Given the description of an element on the screen output the (x, y) to click on. 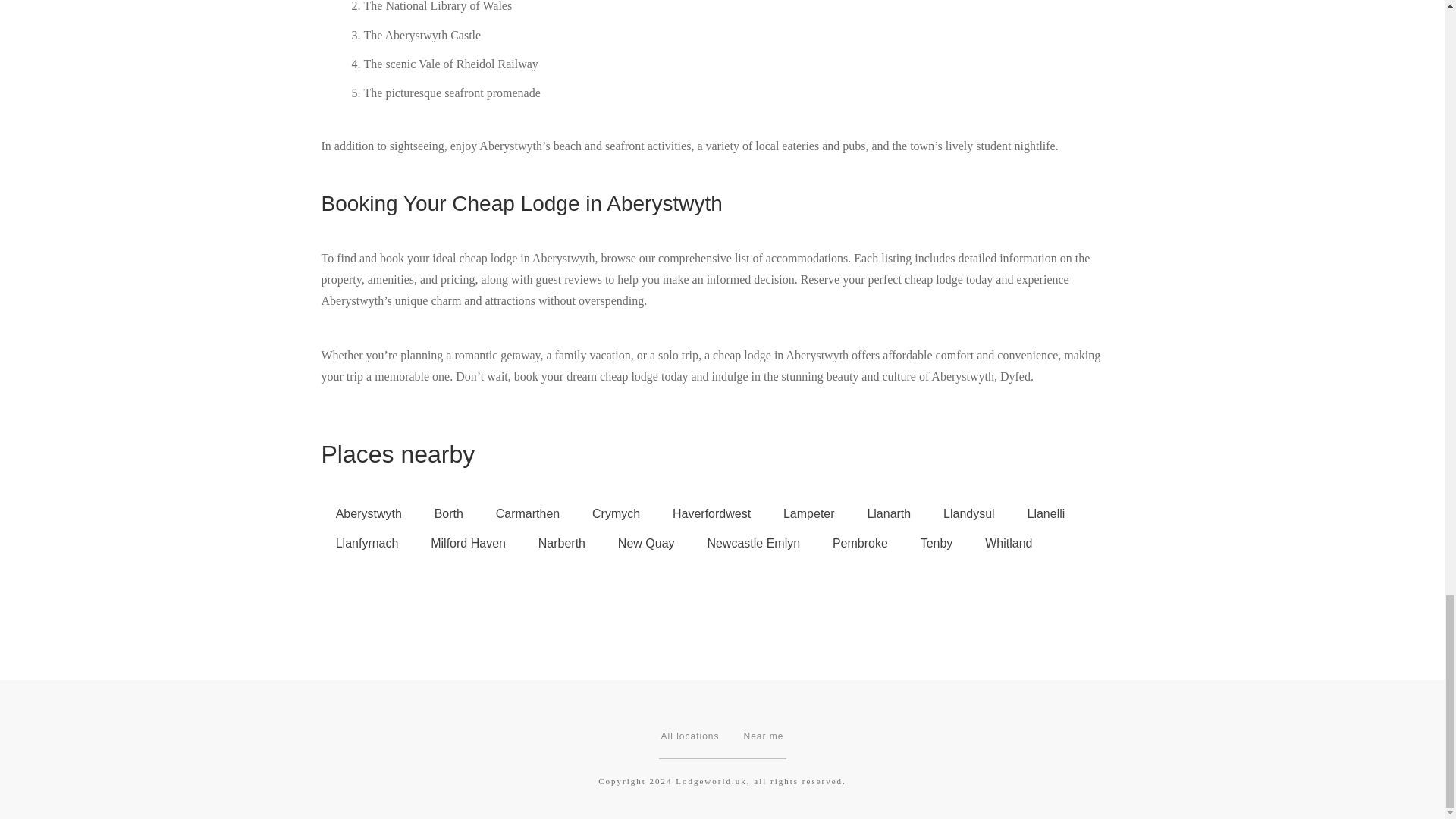
Llanarth (887, 513)
Llanelli (1044, 513)
Llanfyrnach (367, 543)
Crymych (615, 513)
Borth (448, 513)
Lampeter (808, 513)
Aberystwyth (368, 513)
Haverfordwest (711, 513)
Milford Haven (467, 543)
Narberth (561, 543)
